Given the description of an element on the screen output the (x, y) to click on. 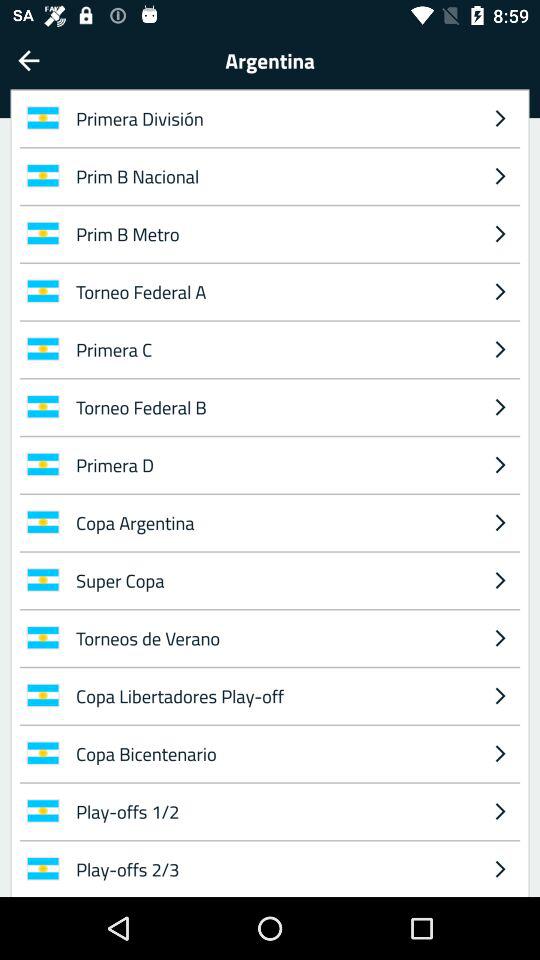
press the icon next to torneo federal b (500, 464)
